Given the description of an element on the screen output the (x, y) to click on. 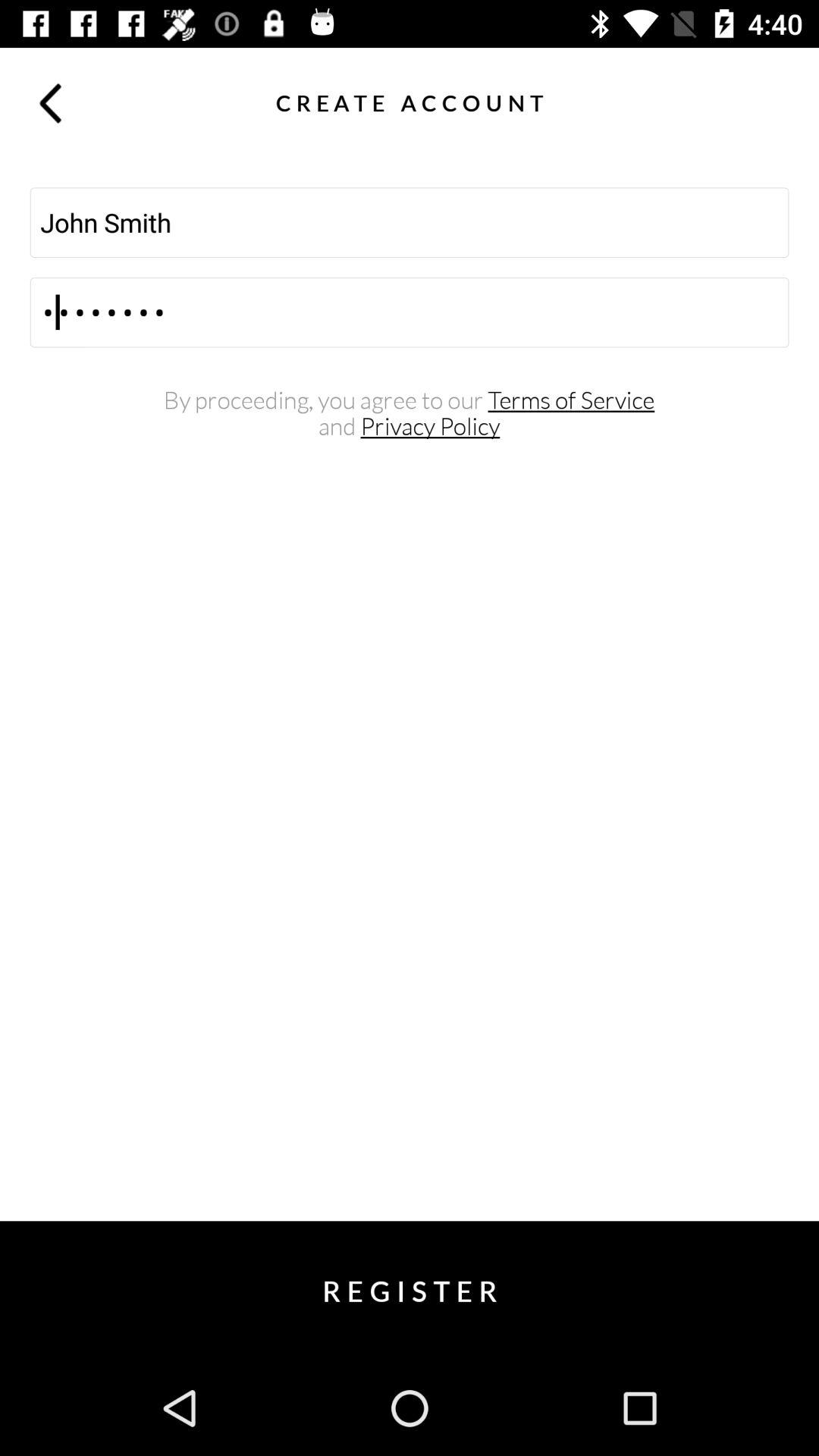
open icon above the by proceeding you item (409, 312)
